Given the description of an element on the screen output the (x, y) to click on. 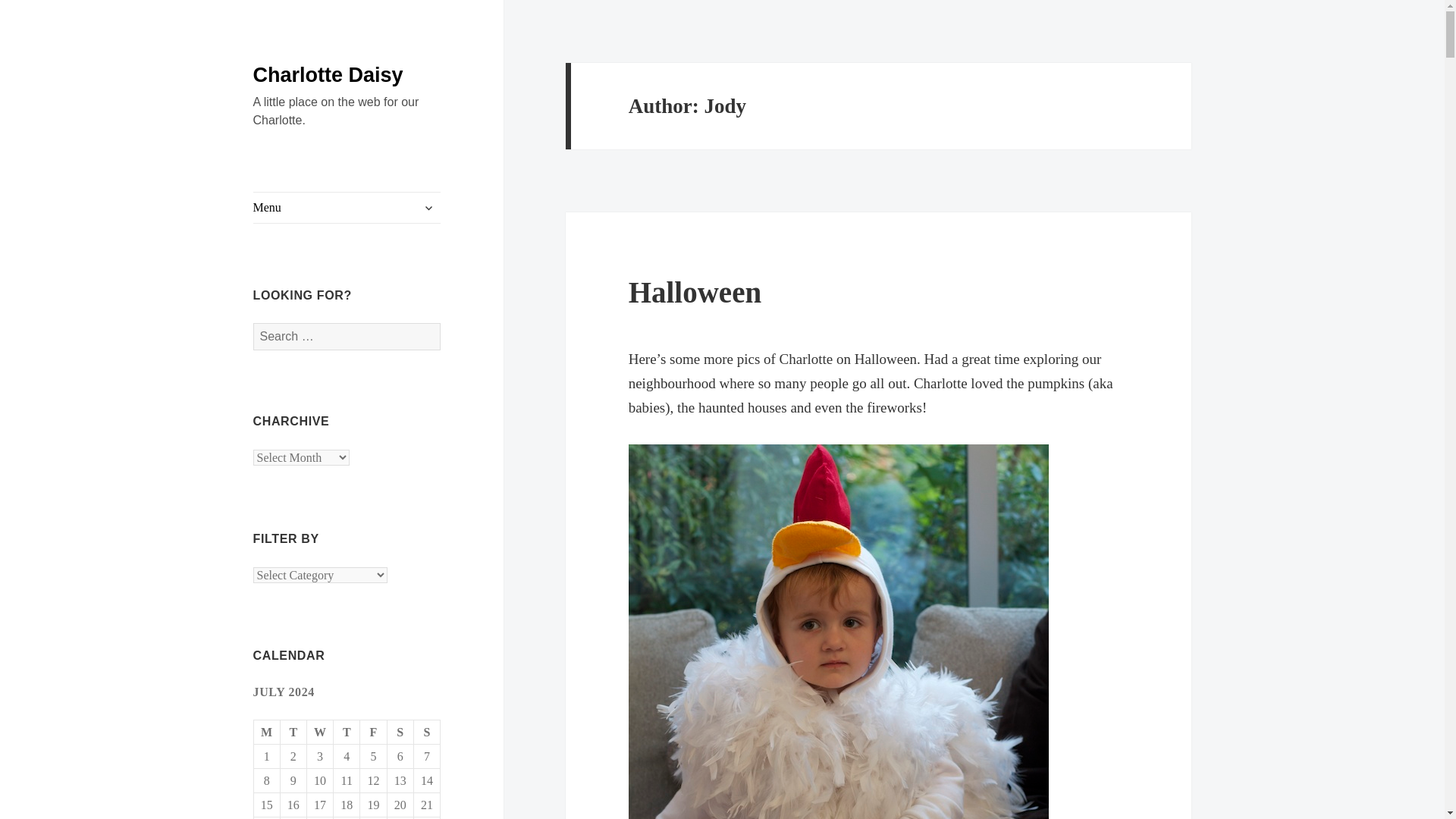
Menu (347, 207)
Monday (267, 732)
Thursday (346, 732)
expand child menu (428, 207)
Halloween (694, 292)
Friday (373, 732)
Saturday (400, 732)
Charlotte Daisy (328, 74)
Tuesday (294, 732)
Sunday (427, 732)
Wednesday (320, 732)
